Given the description of an element on the screen output the (x, y) to click on. 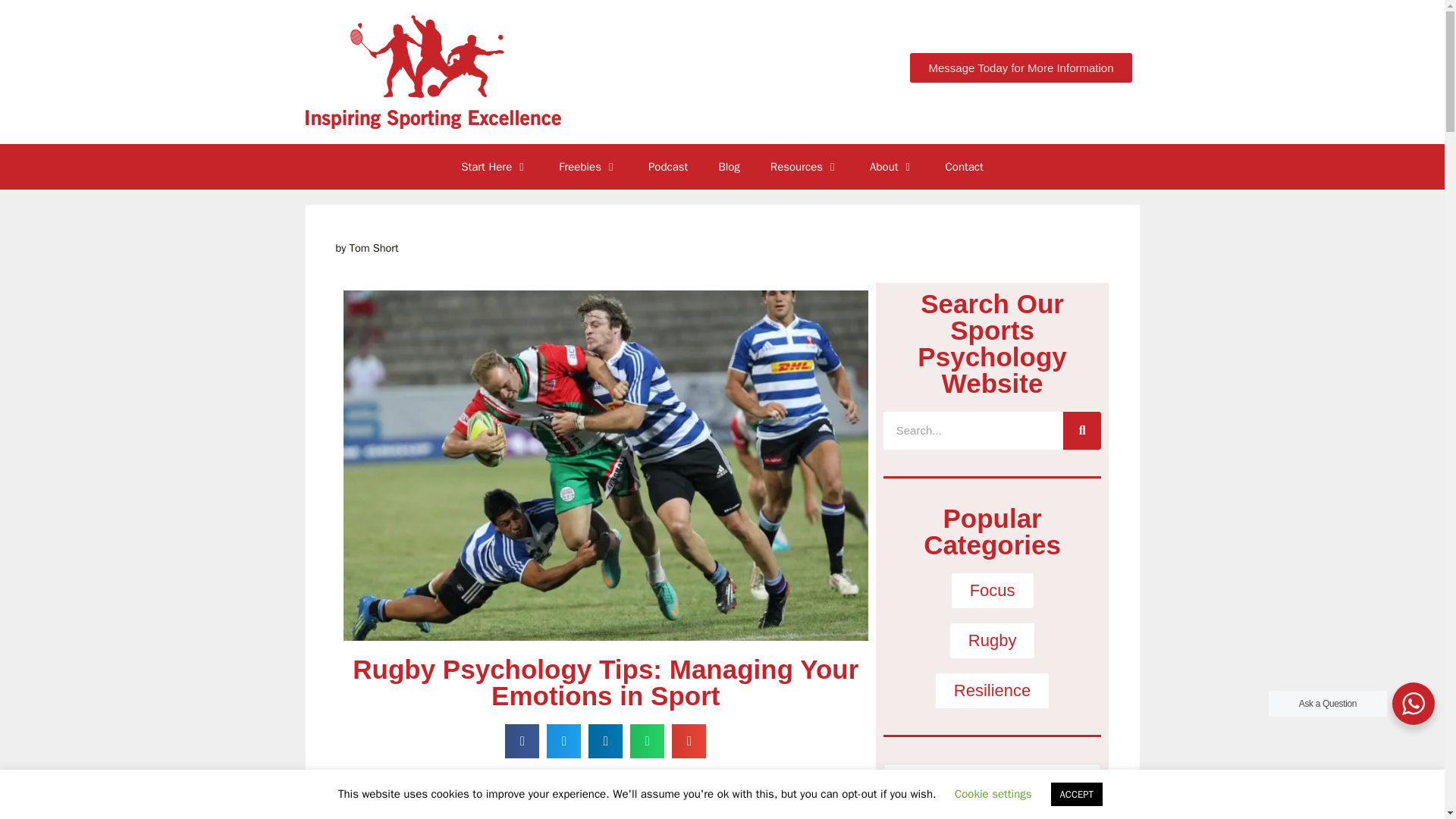
About (892, 166)
Start Here (494, 166)
Podcast (668, 166)
Blog (728, 166)
Message Today for More Information (1020, 67)
Contact (964, 166)
Freebies (588, 166)
View all posts by Tom Short (373, 247)
Resources (804, 166)
